Given the description of an element on the screen output the (x, y) to click on. 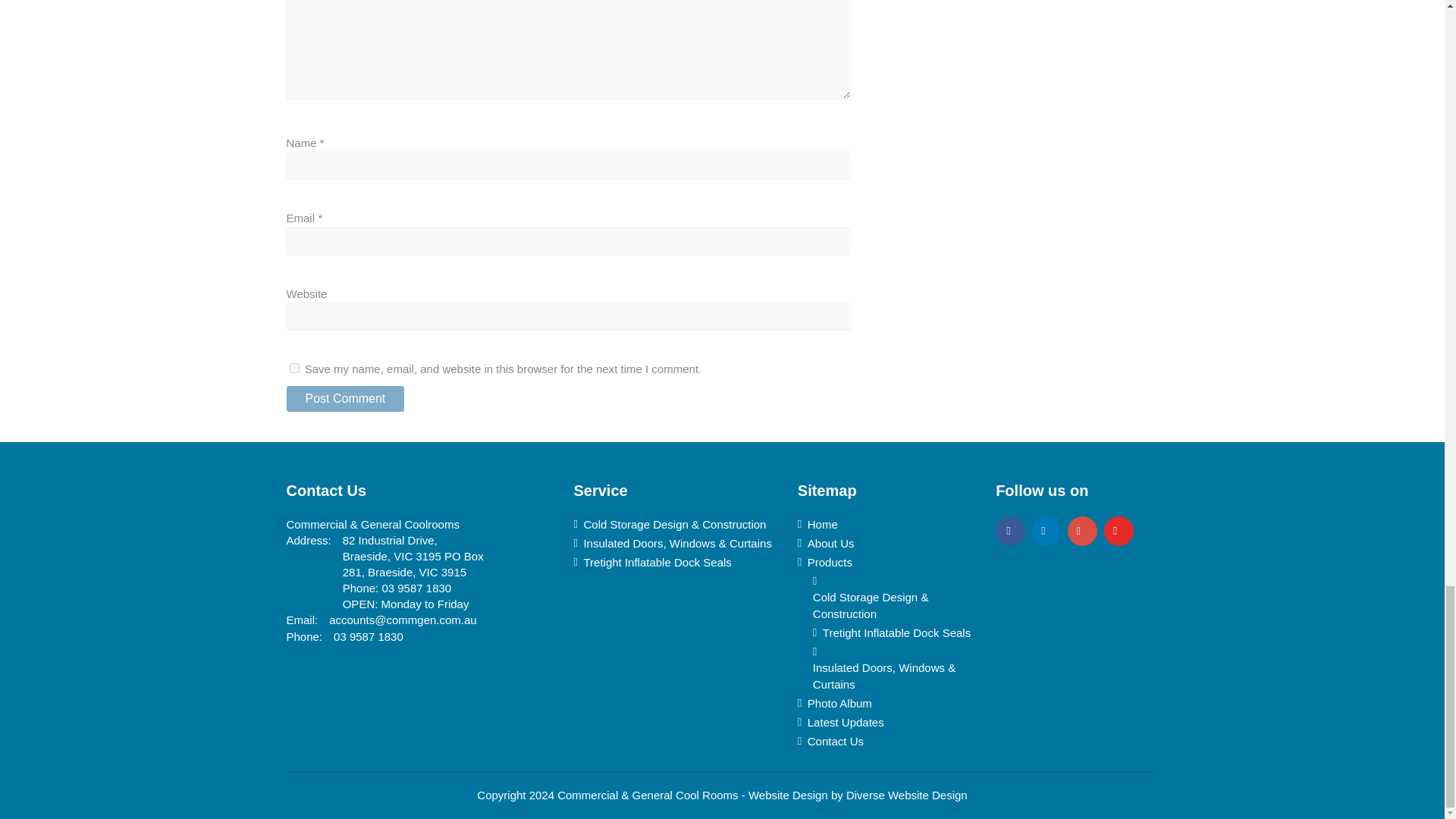
yes (294, 368)
Diverse Website Design (906, 794)
Post Comment (345, 398)
Post Comment (345, 398)
